Given the description of an element on the screen output the (x, y) to click on. 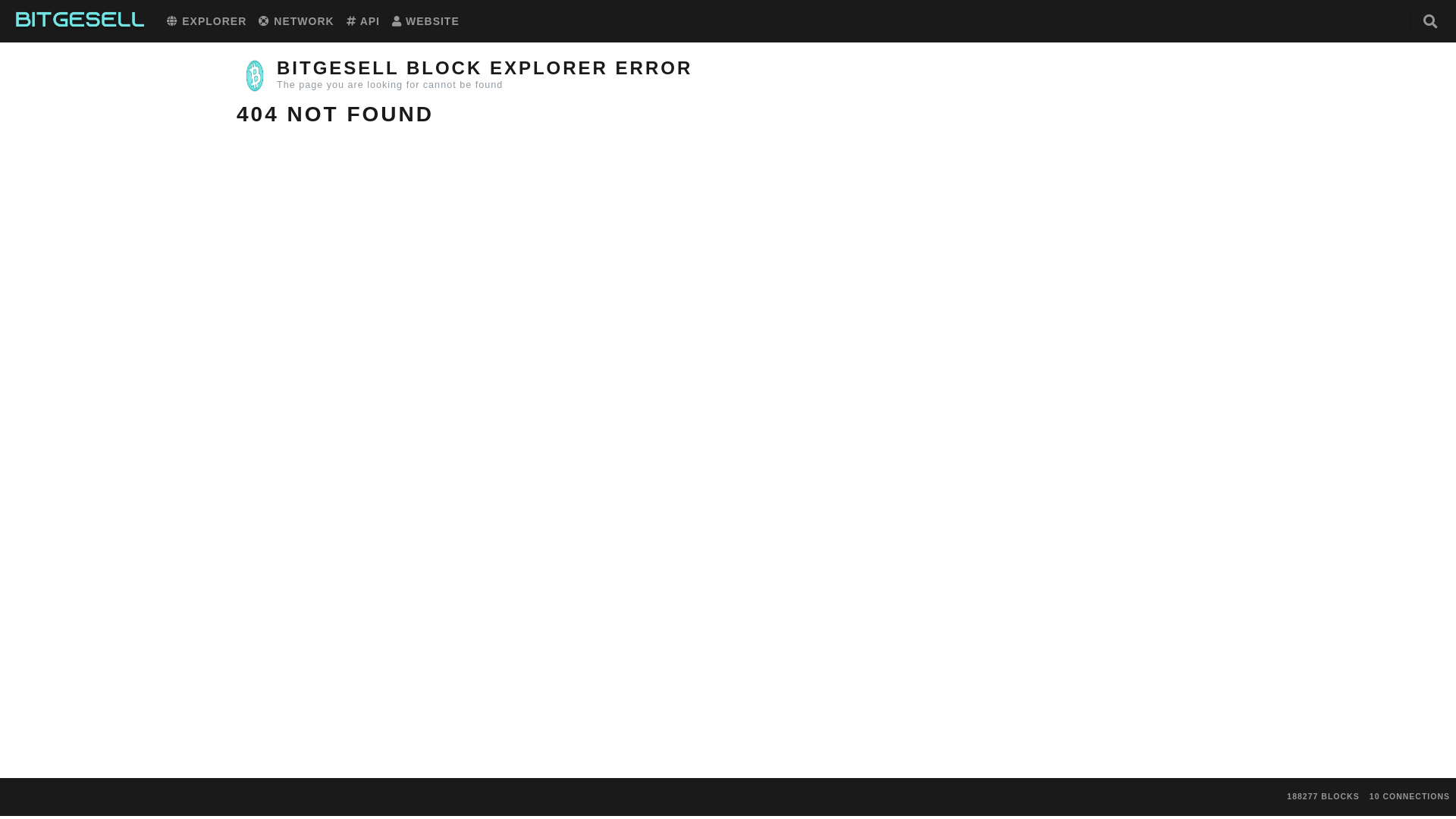
API Element type: text (362, 21)
EXPLORER Element type: text (206, 21)
WEBSITE Element type: text (425, 21)
Bitgesell Home Element type: hover (80, 21)
NETWORK Element type: text (295, 21)
